Given the description of an element on the screen output the (x, y) to click on. 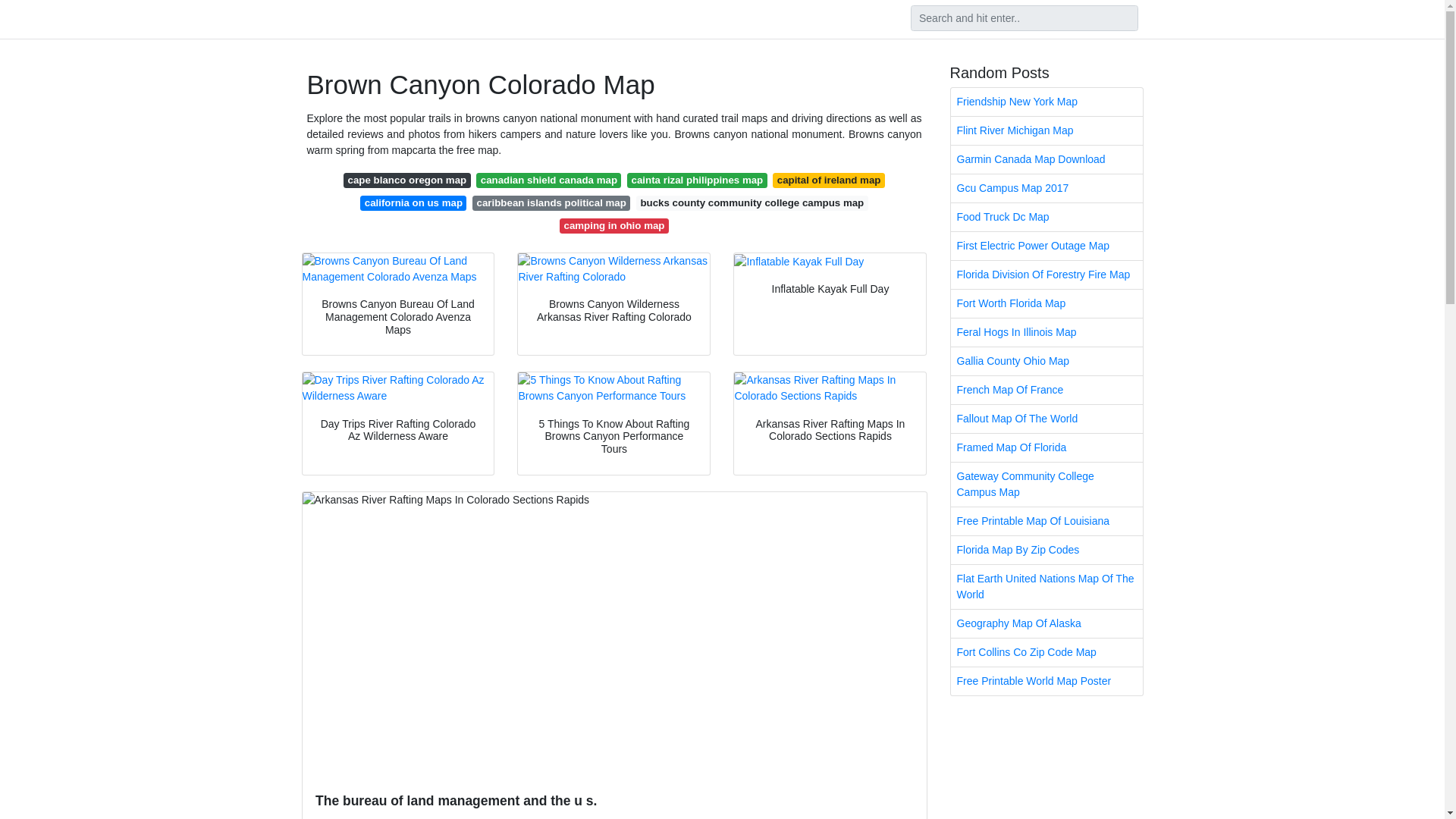
capital of ireland map (828, 180)
camping in ohio map (613, 225)
Friendship New York Map (1046, 101)
Feral Hogs In Illinois Map (1046, 332)
canadian shield canada map (548, 180)
bucks county community college campus map (751, 202)
cainta rizal philippines map (697, 180)
Flint River Michigan Map (1046, 130)
Garmin Canada Map Download (1046, 159)
cape blanco oregon map (406, 180)
